Given the description of an element on the screen output the (x, y) to click on. 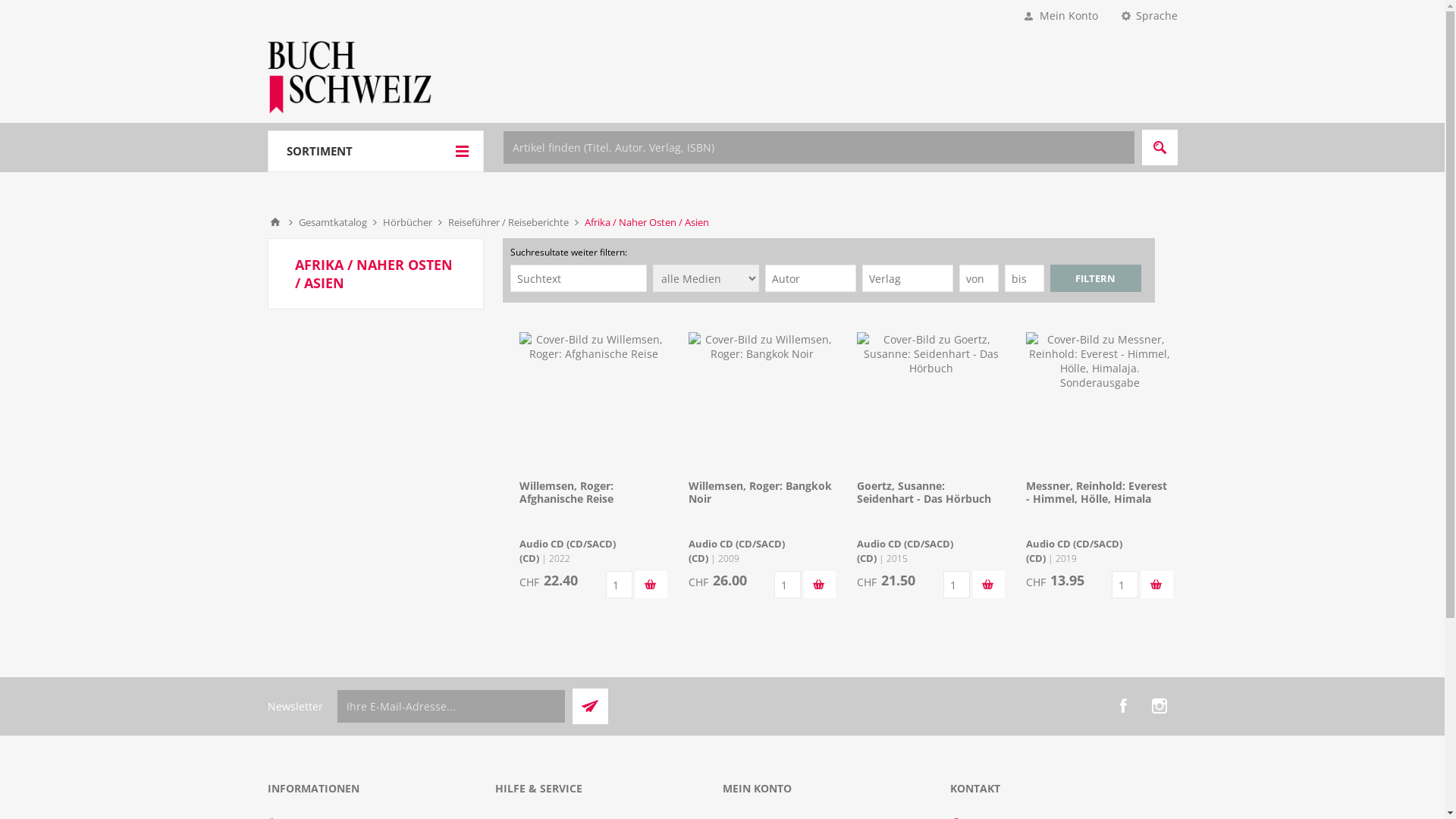
  Element type: text (819, 584)
Home Element type: text (274, 222)
Willemsen, Roger: Bangkok Noir Element type: text (759, 491)
  Element type: text (988, 584)
filtern Element type: text (1094, 277)
Gesamtkatalog Element type: text (332, 222)
  Element type: text (651, 584)
Suchen Element type: text (1159, 147)
  Element type: text (1157, 584)
Willemsen, Roger: Afghanische Reise Element type: text (566, 491)
